Given the description of an element on the screen output the (x, y) to click on. 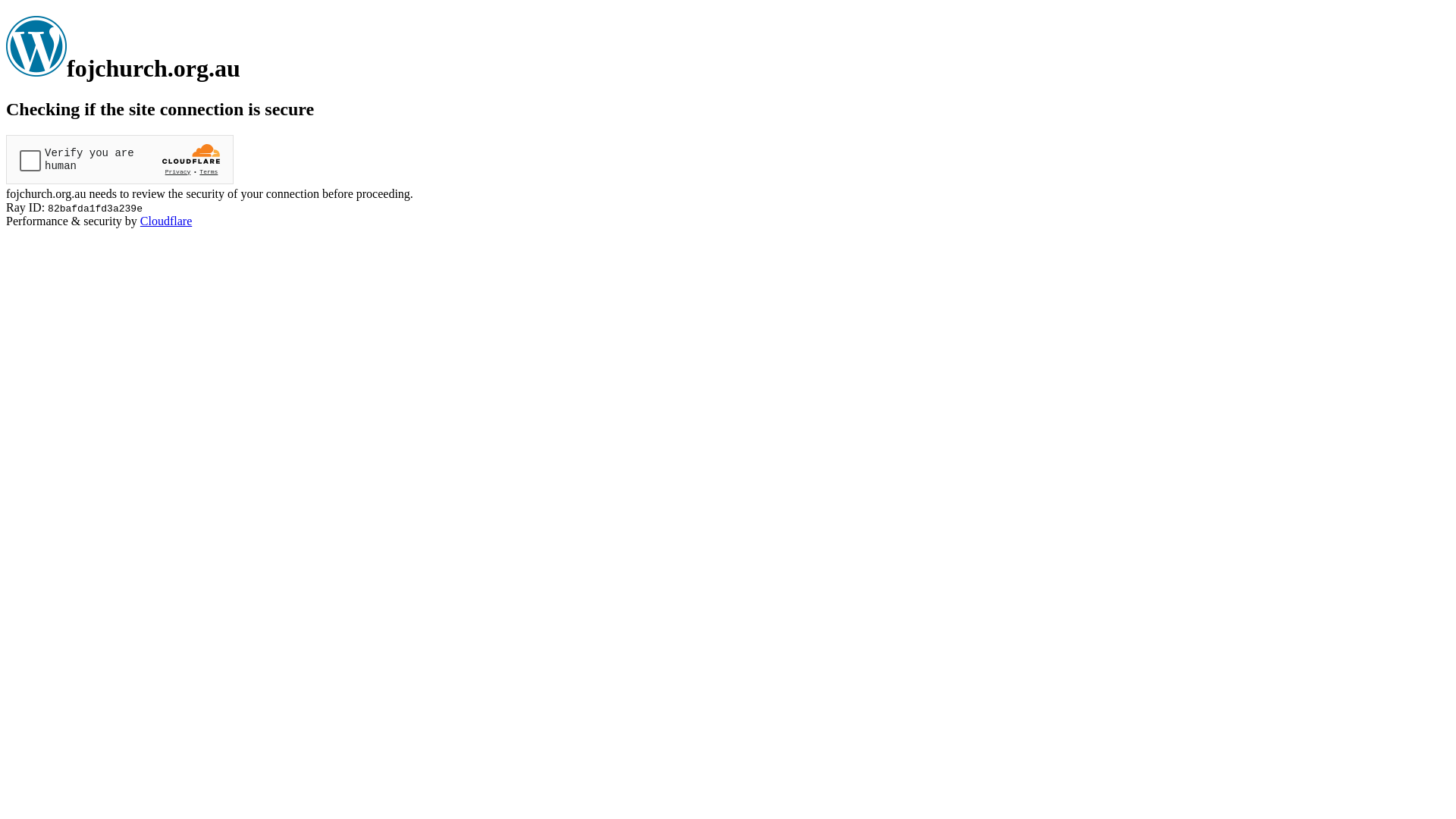
Widget containing a Cloudflare security challenge Element type: hover (119, 159)
Cloudflare Element type: text (165, 220)
